Given the description of an element on the screen output the (x, y) to click on. 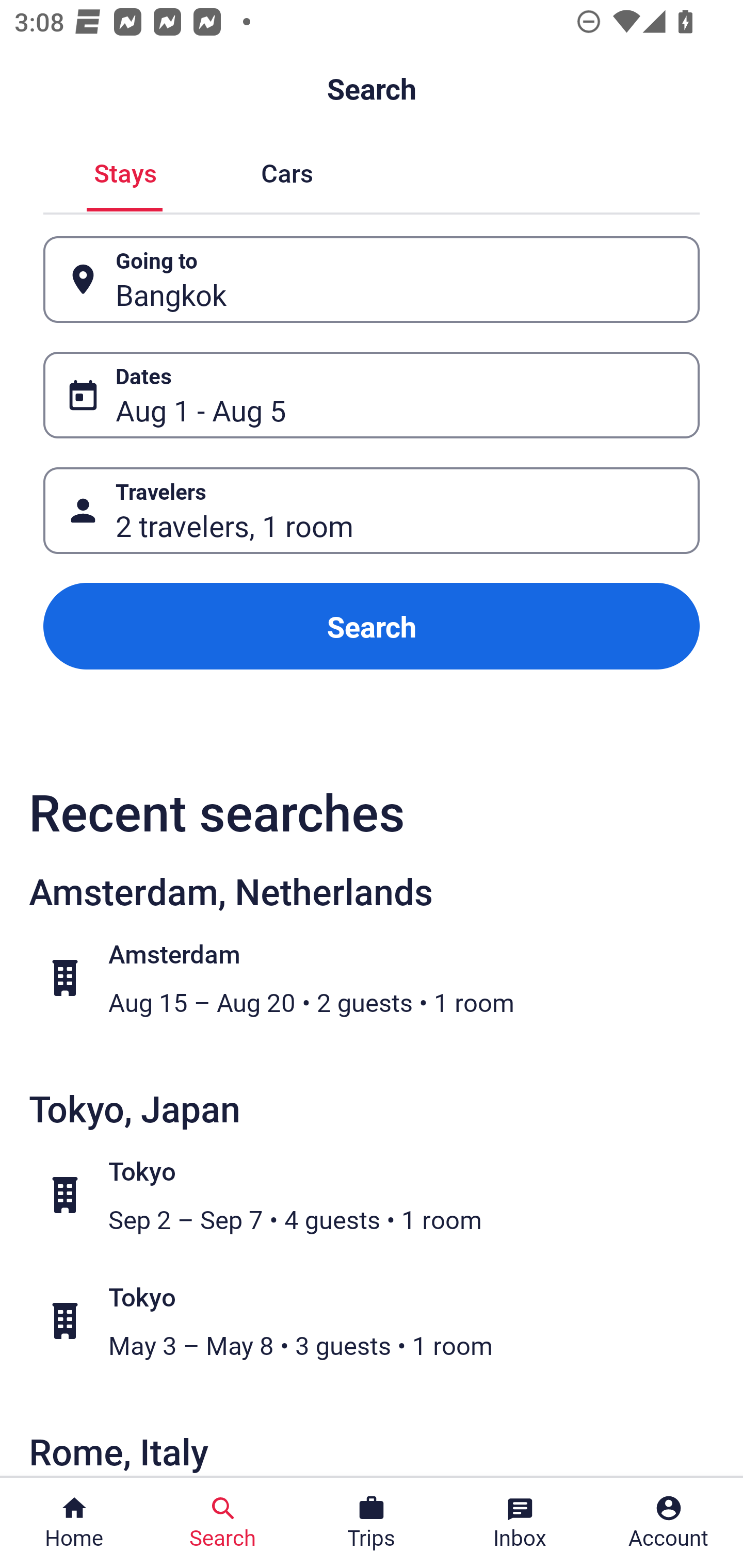
Cars (286, 171)
Going to Button Bangkok (371, 279)
Dates Button Aug 1 - Aug 5 (371, 395)
Travelers Button 2 travelers, 1 room (371, 510)
Search (371, 626)
Amsterdam Aug 15 – Aug 20 • 2 guests • 1 room (382, 978)
Tokyo Sep 2 – Sep 7 • 4 guests • 1 room (382, 1194)
Tokyo May 3 – May 8 • 3 guests • 1 room (382, 1320)
Home Home Button (74, 1522)
Trips Trips Button (371, 1522)
Inbox Inbox Button (519, 1522)
Account Profile. Button (668, 1522)
